Given the description of an element on the screen output the (x, y) to click on. 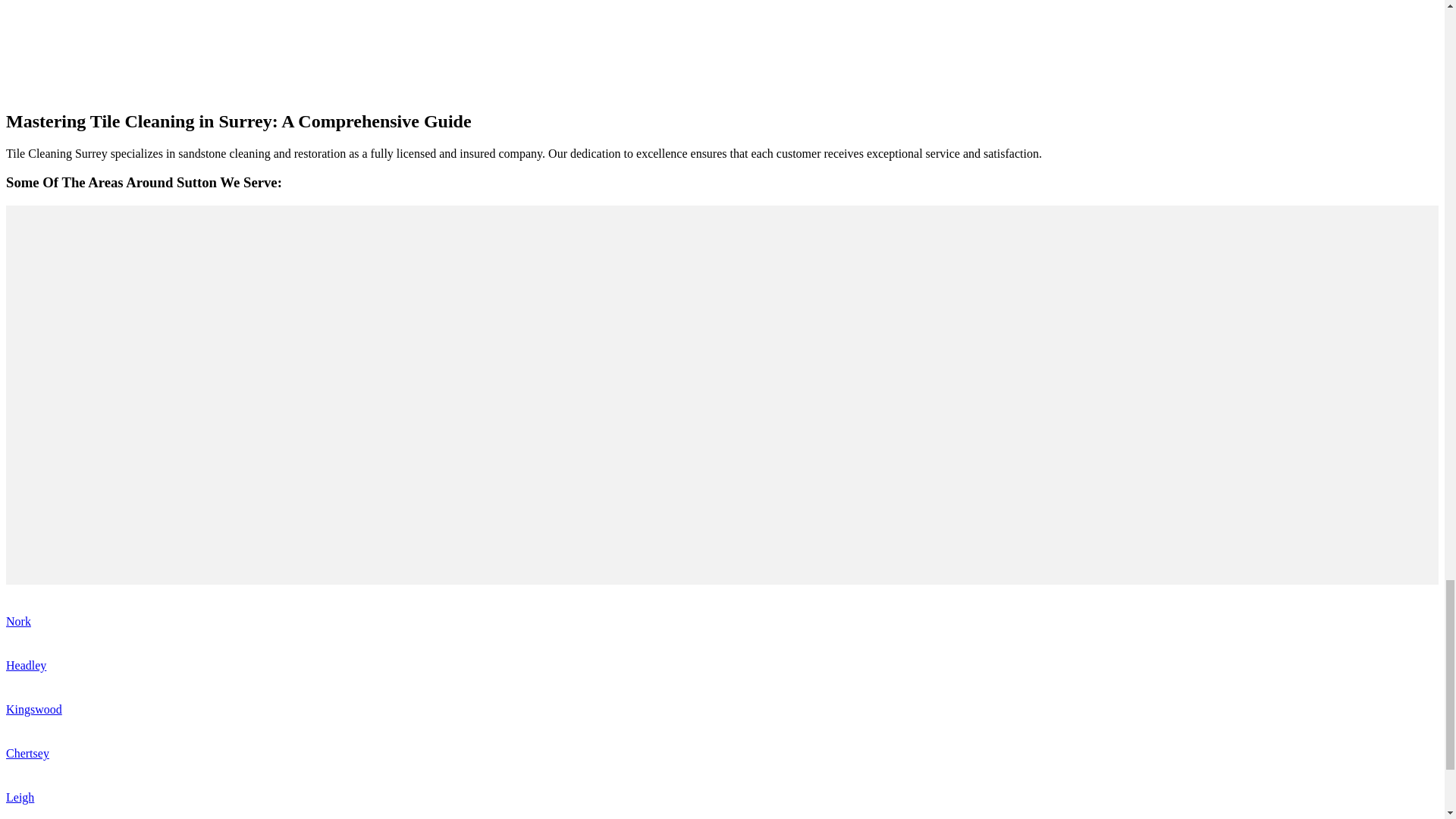
Nork (17, 621)
Nork (17, 621)
Kingswood (33, 708)
Kingswood (33, 708)
Headley (25, 665)
Leigh (19, 797)
Headley (25, 665)
Chertsey (27, 753)
Leigh (19, 797)
Chertsey (27, 753)
